Given the description of an element on the screen output the (x, y) to click on. 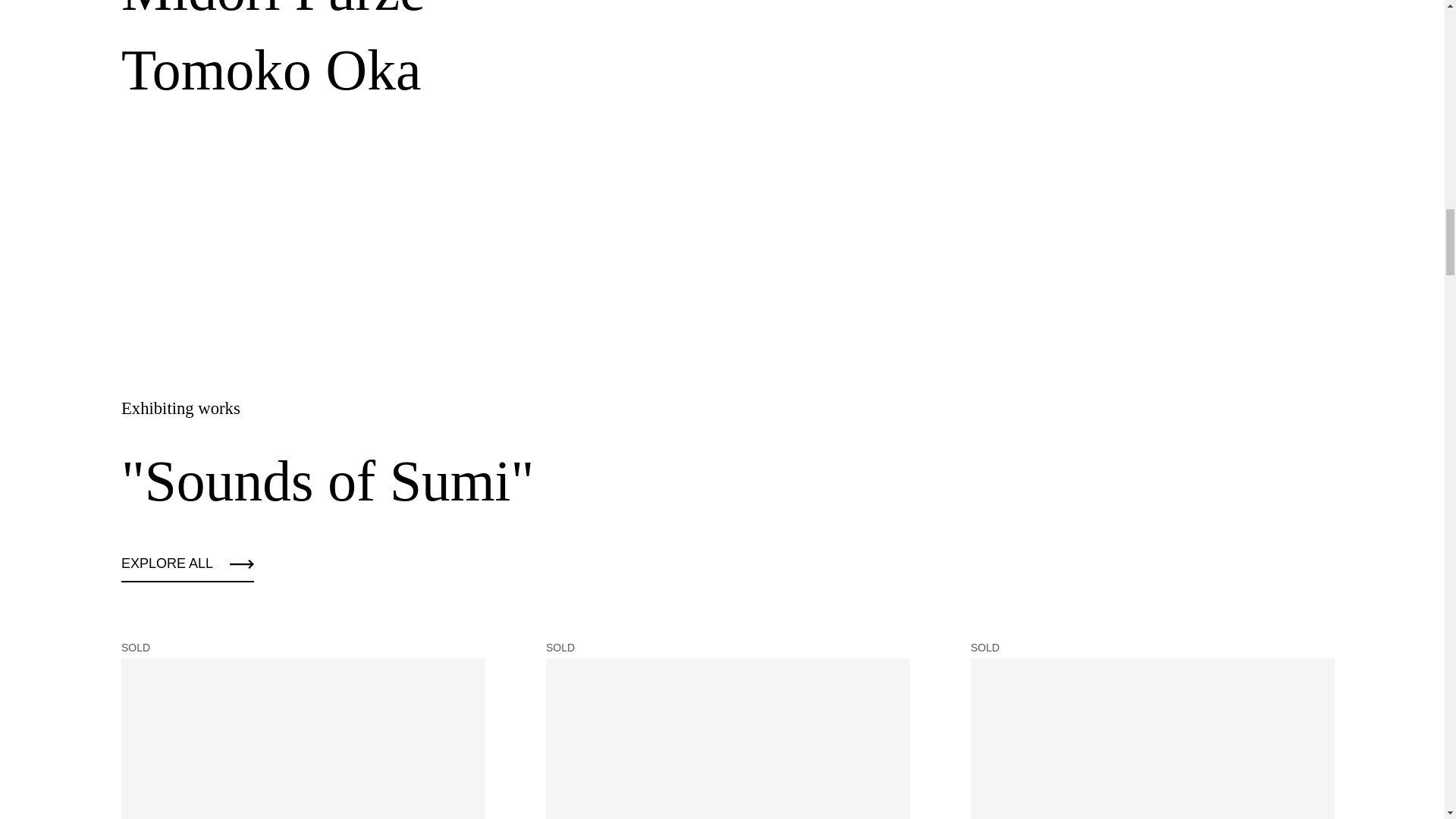
Tomoko Oka (270, 70)
Midori Furze (272, 15)
Explore all (186, 568)
